Given the description of an element on the screen output the (x, y) to click on. 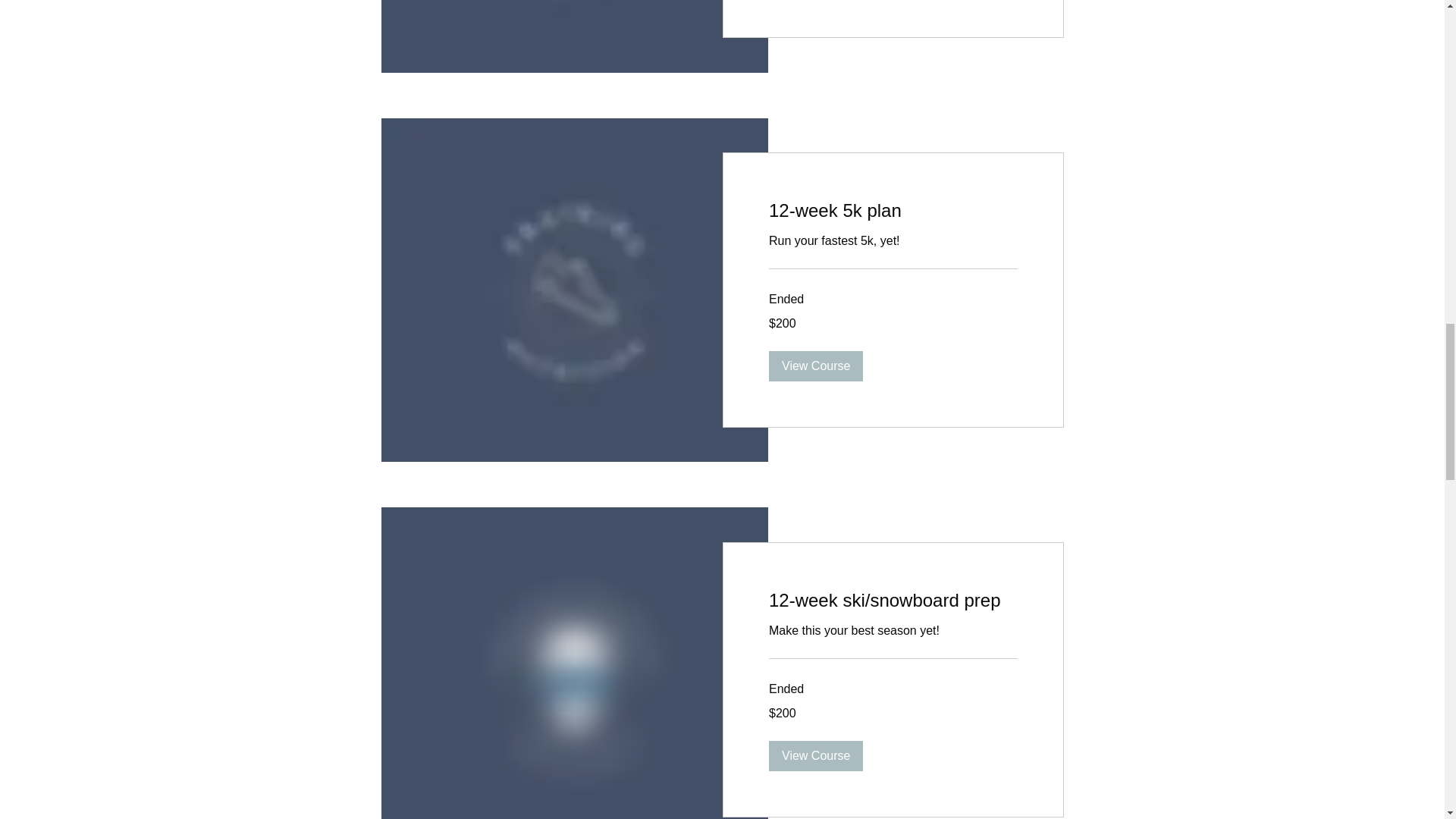
12-week 5k plan (892, 210)
View Course (815, 366)
View Course (815, 756)
